Given the description of an element on the screen output the (x, y) to click on. 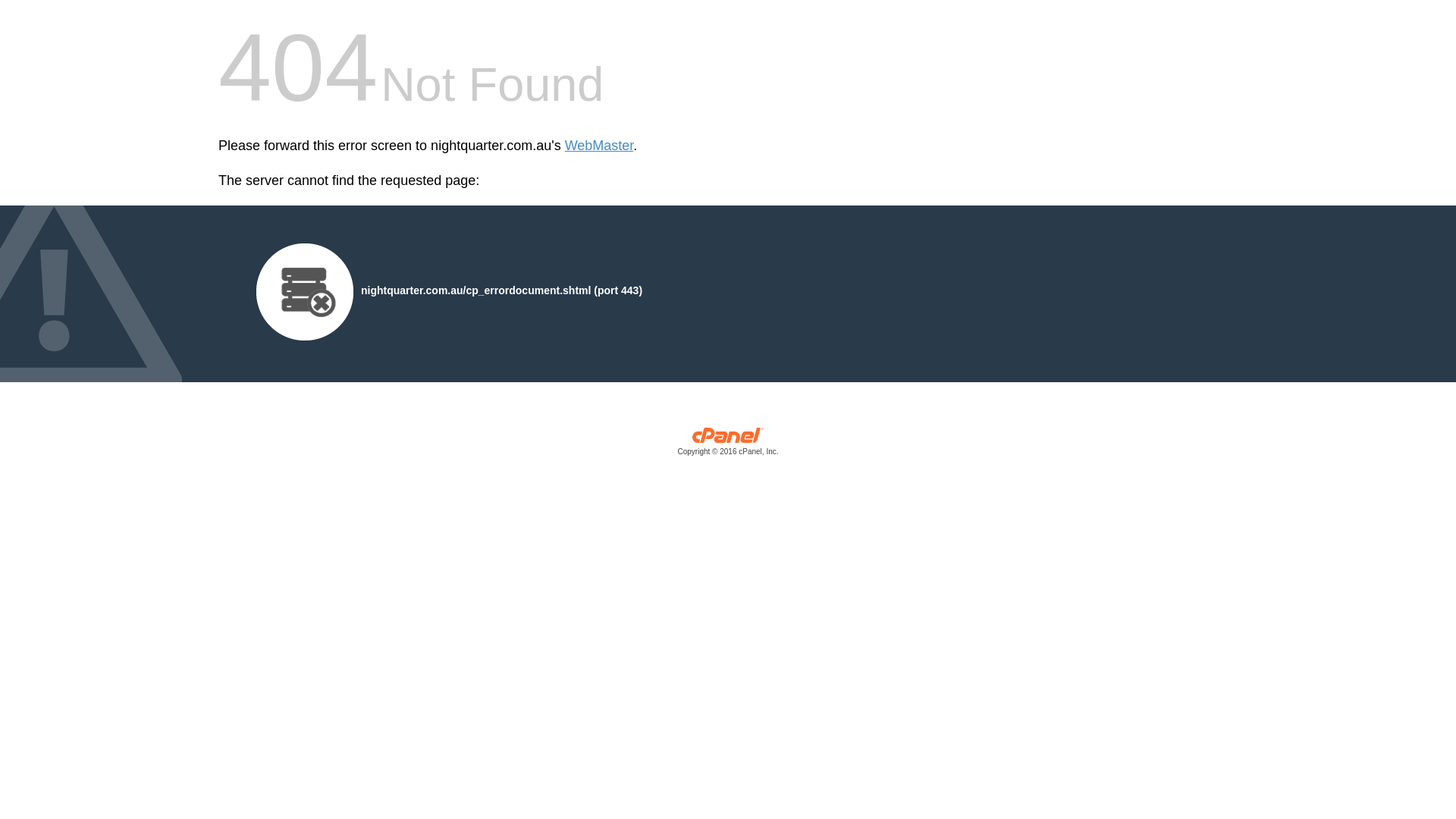
WebMaster Element type: text (598, 145)
